Given the description of an element on the screen output the (x, y) to click on. 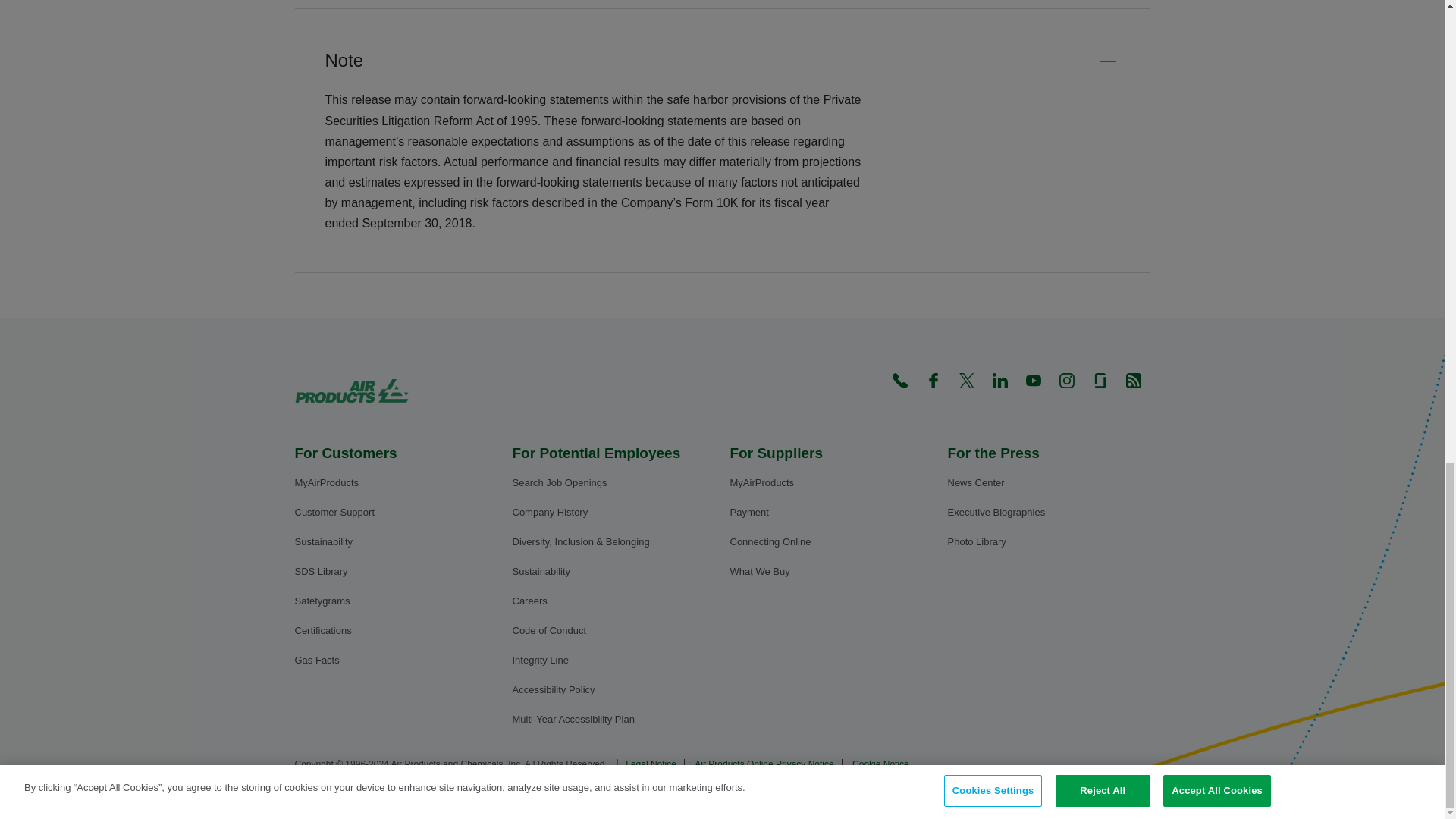
Toggle accordion (1106, 61)
